Given the description of an element on the screen output the (x, y) to click on. 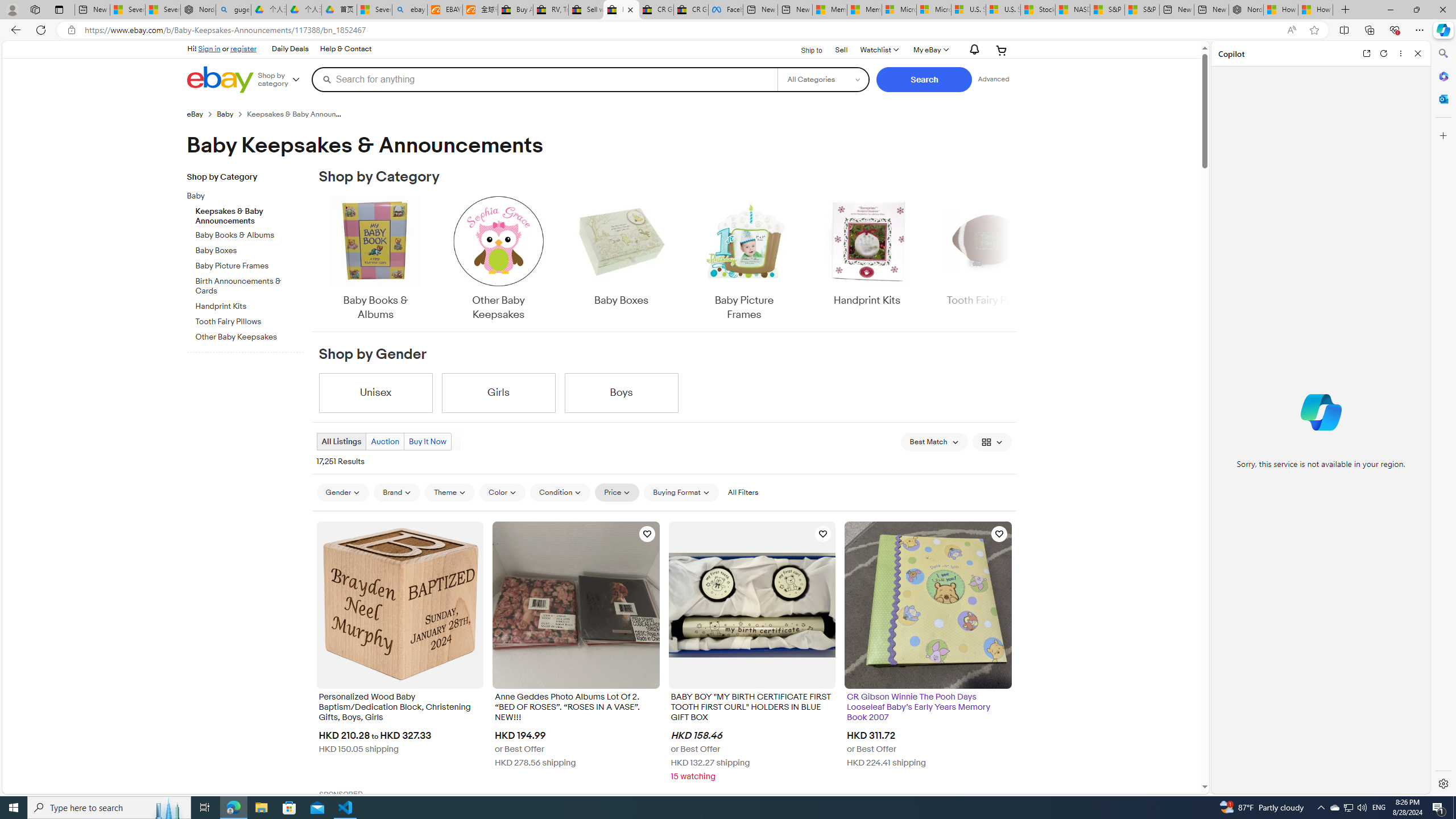
How to Use a Monitor With Your Closed Laptop (1315, 9)
Color (502, 492)
Condition (560, 492)
Baby Boxes (621, 258)
RV, Trailer & Camper Steps & Ladders for sale | eBay (550, 9)
Birth Announcements & Cards (249, 286)
All Listings (340, 441)
Price (617, 492)
Your shopping cart (1001, 49)
Facebook (725, 9)
